Given the description of an element on the screen output the (x, y) to click on. 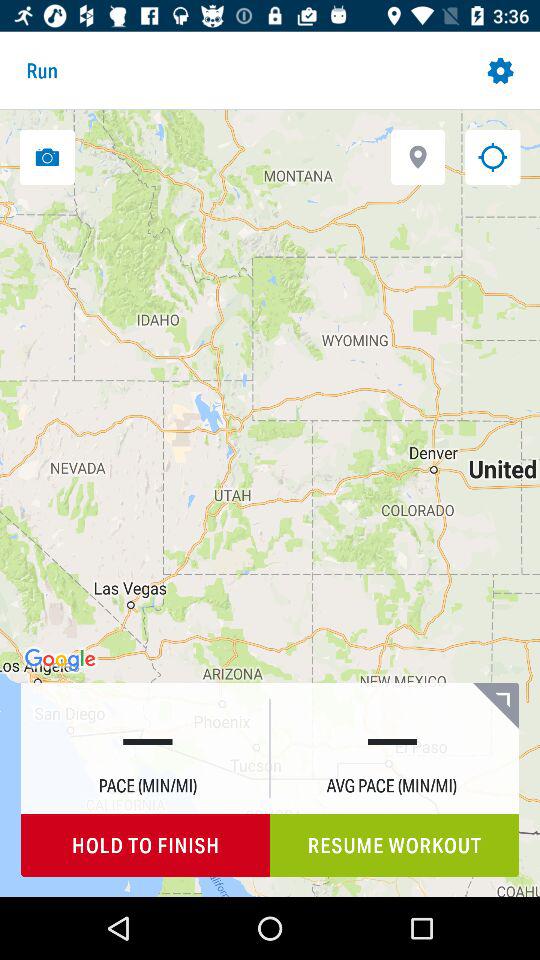
use satellite autolocation (418, 156)
